Given the description of an element on the screen output the (x, y) to click on. 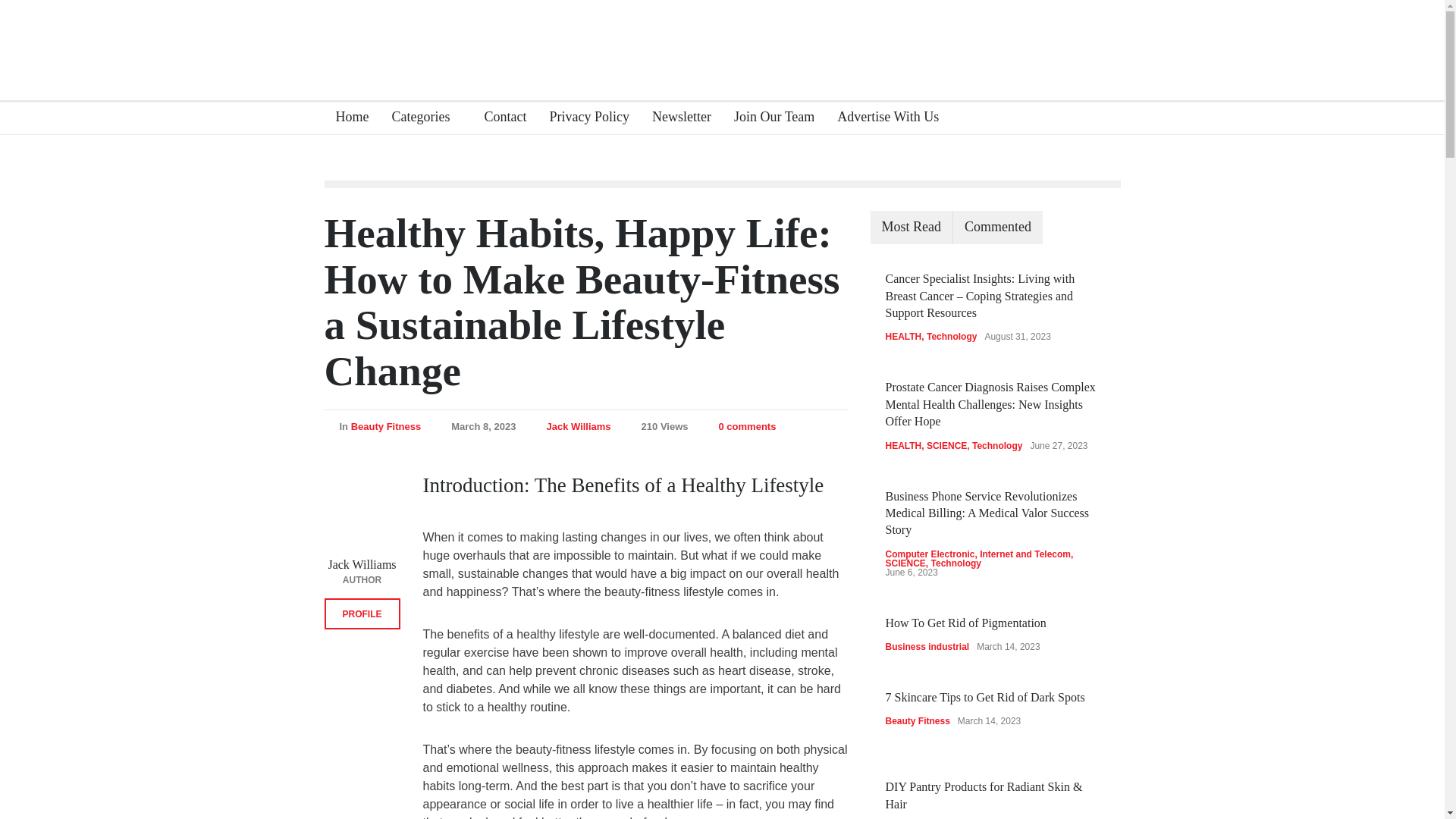
Categories (426, 118)
Join Our Team (767, 118)
0 comments (747, 426)
Truegazette (722, 40)
Newsletter (675, 118)
Jack Williams (578, 426)
View all posts filed under Beauty Fitness (385, 426)
0 comments (739, 426)
PROFILE (362, 613)
Beauty Fitness (385, 426)
Jack Williams (578, 426)
Jack Williams (361, 563)
Jack Williams (361, 563)
